Given the description of an element on the screen output the (x, y) to click on. 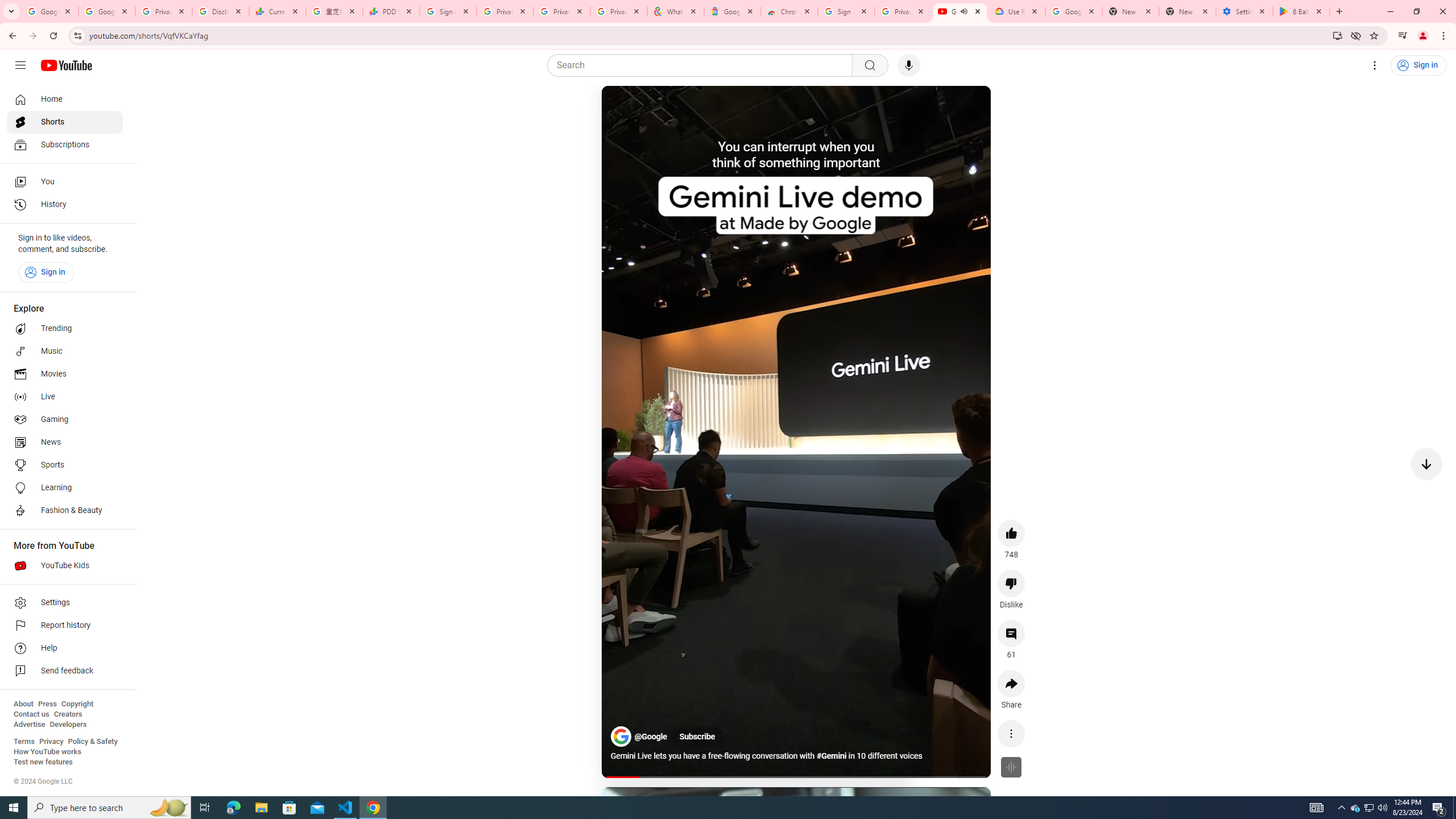
More actions (1011, 732)
Feature not available for this video (1011, 767)
Live (64, 396)
Advertise (29, 724)
Chrome Web Store - Color themes by Chrome (788, 11)
